Given the description of an element on the screen output the (x, y) to click on. 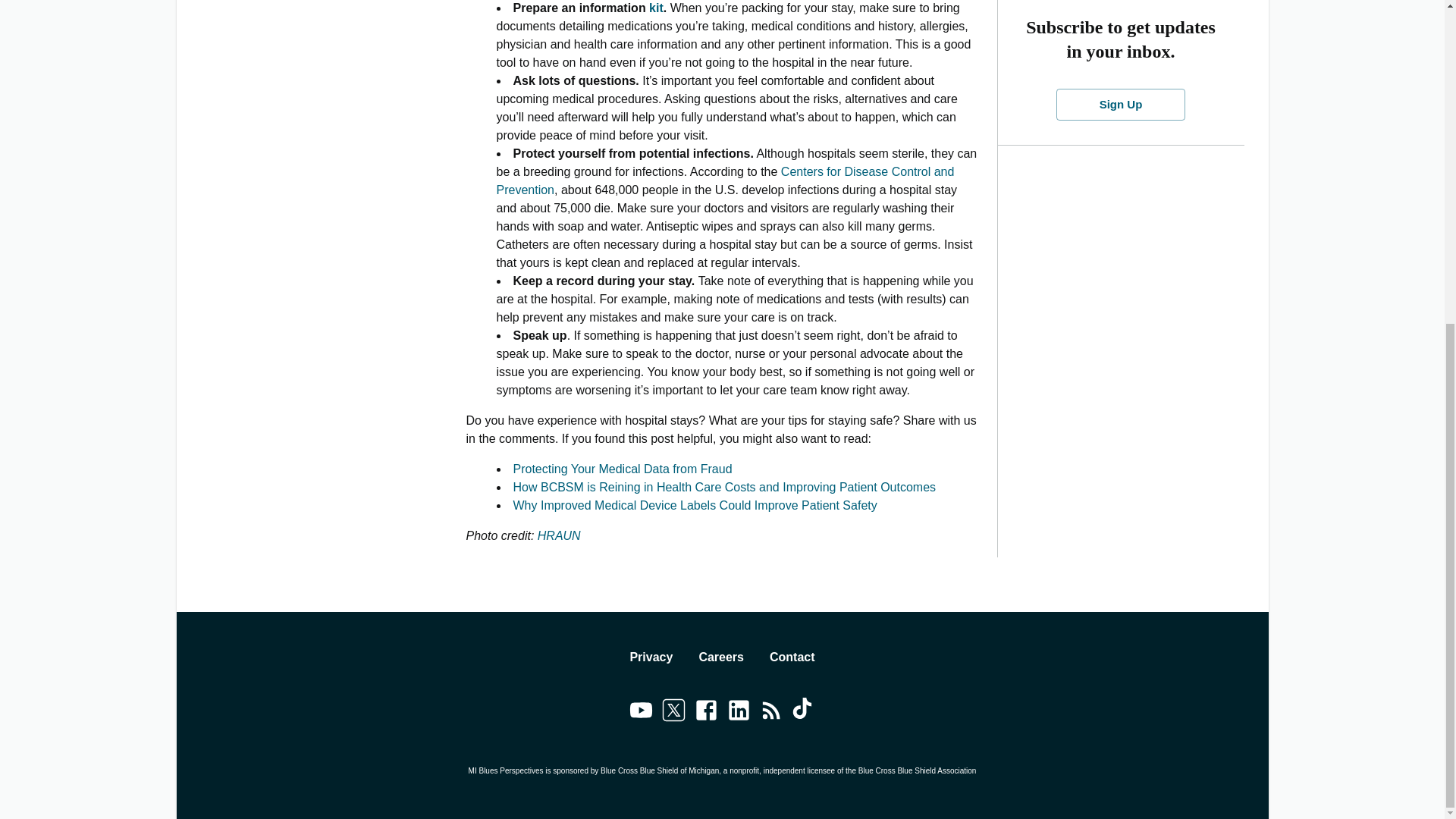
Contact (792, 657)
Centers for Disease Control and Prevention (724, 180)
Careers (721, 657)
HRAUN (558, 535)
kit (656, 7)
Protecting Your Medical Data from Fraud (622, 468)
Privacy (650, 657)
Sign Up (1121, 104)
